Given the description of an element on the screen output the (x, y) to click on. 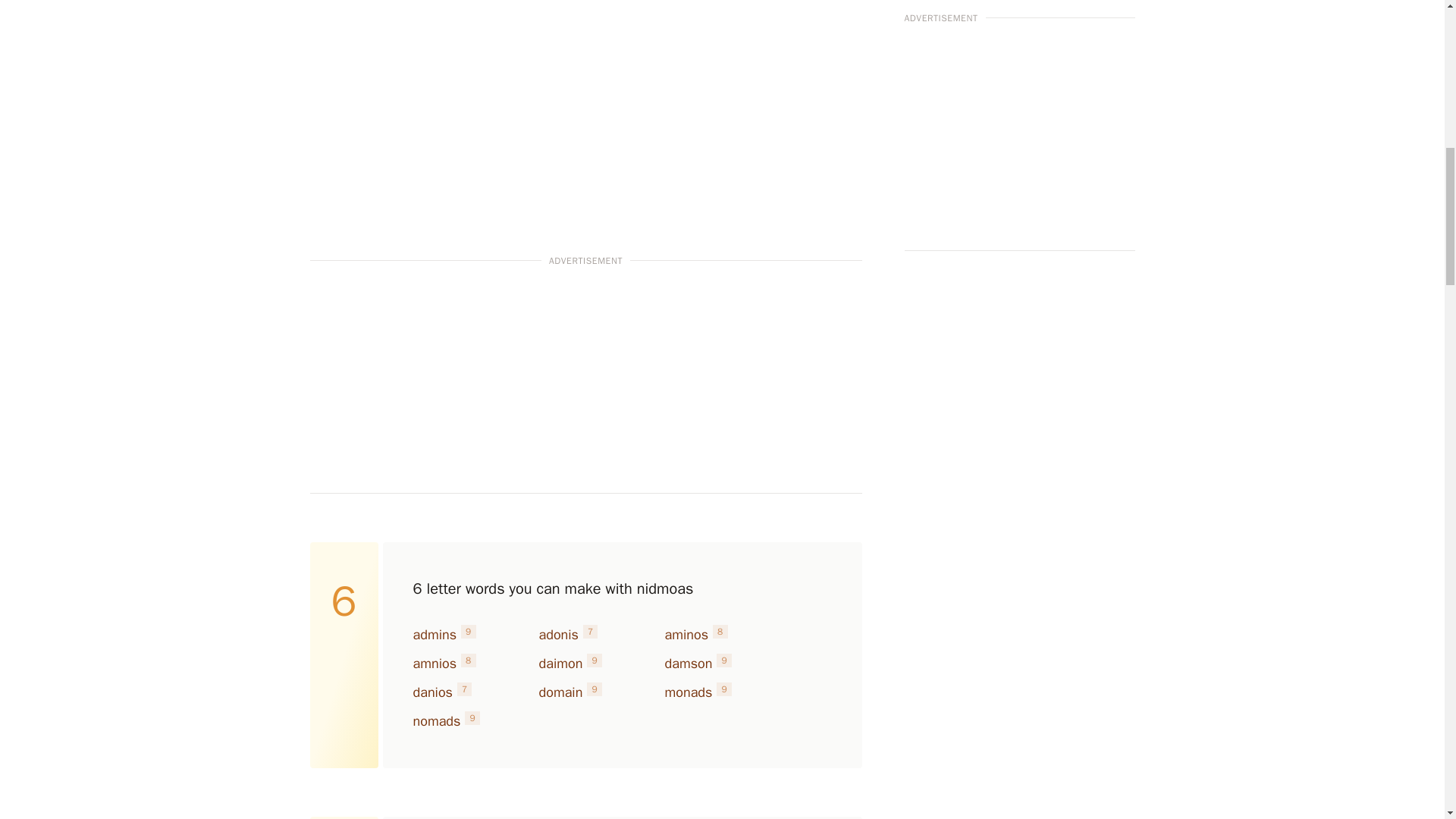
danios (431, 692)
amnios (434, 663)
damson (687, 663)
adonis (558, 634)
aminos (685, 634)
domain (560, 692)
daimon (560, 663)
admins (434, 634)
monads (687, 692)
nomads (436, 720)
